Given the description of an element on the screen output the (x, y) to click on. 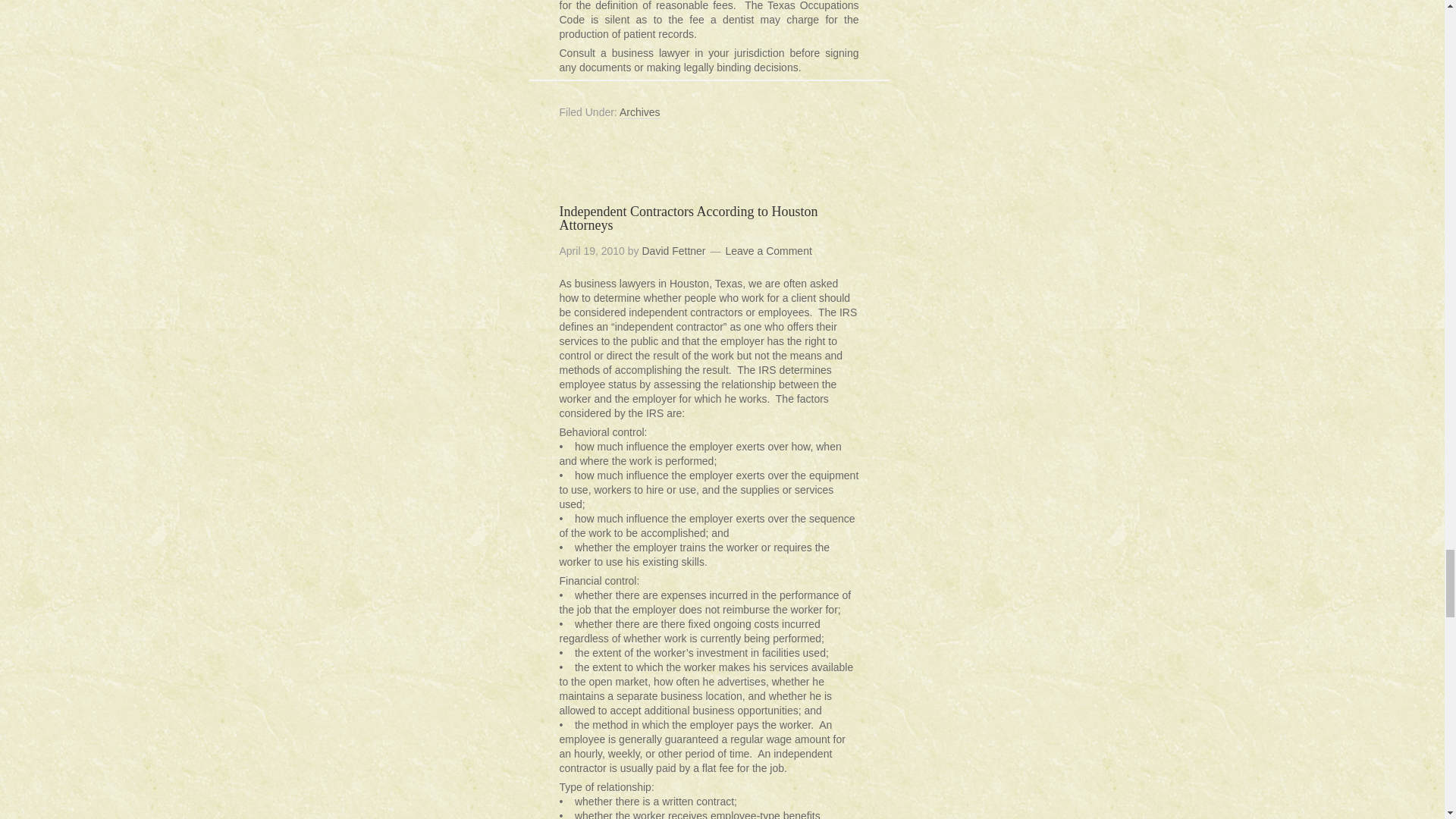
Leave a Comment (767, 250)
David Fettner (673, 250)
Archives (640, 112)
Independent Contractors According to Houston Attorneys (688, 217)
